Given the description of an element on the screen output the (x, y) to click on. 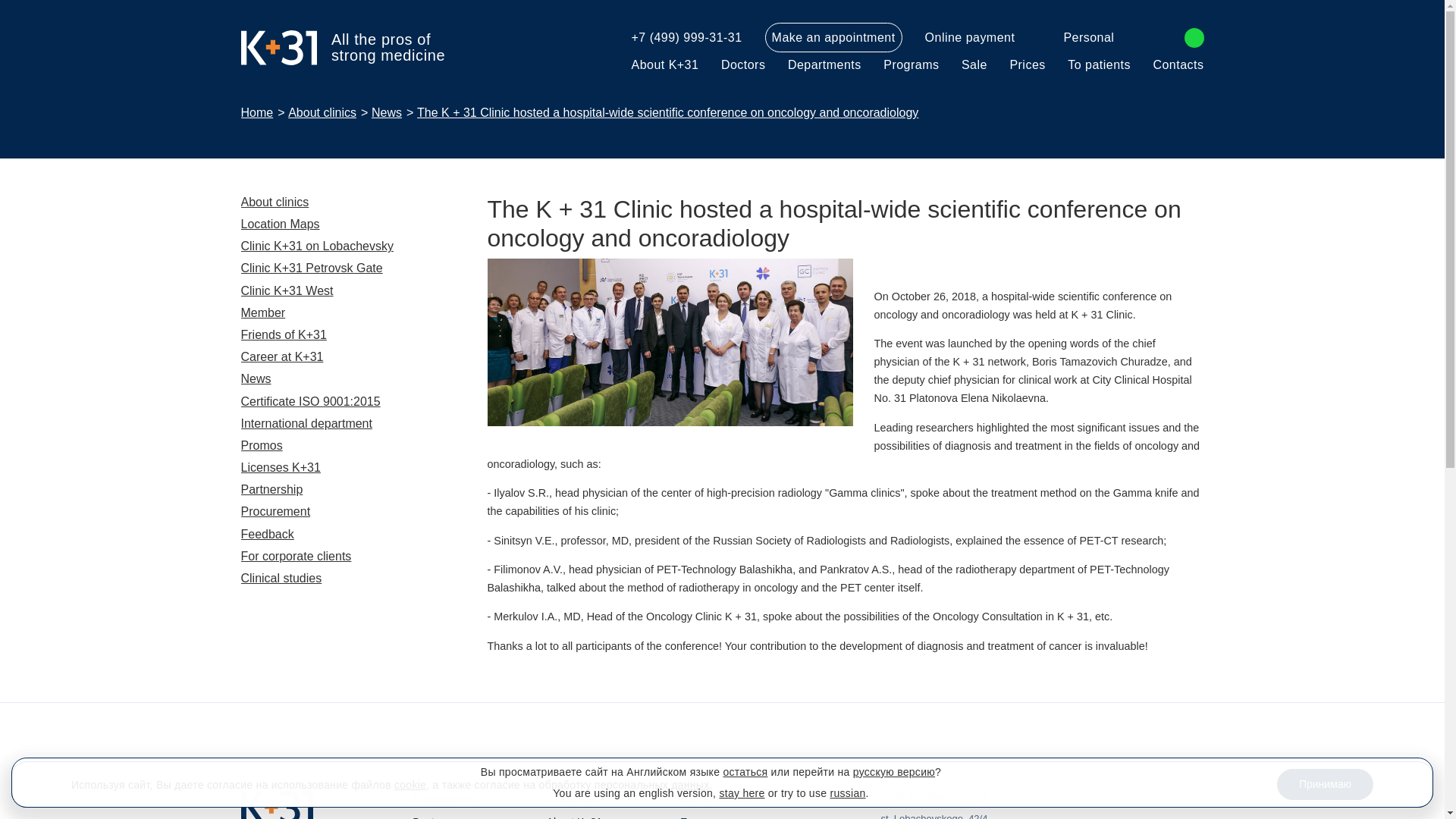
About clinics (274, 201)
Procurement (276, 511)
Member (263, 312)
Personal (1076, 37)
Departments (824, 64)
Promos (261, 445)
Doctors (742, 64)
Make an appointment (833, 37)
Contacts (1178, 64)
Feedback (267, 533)
About clinics (322, 112)
Clinical studies (281, 577)
cookie (410, 784)
International department (306, 422)
Location Maps (280, 223)
